Given the description of an element on the screen output the (x, y) to click on. 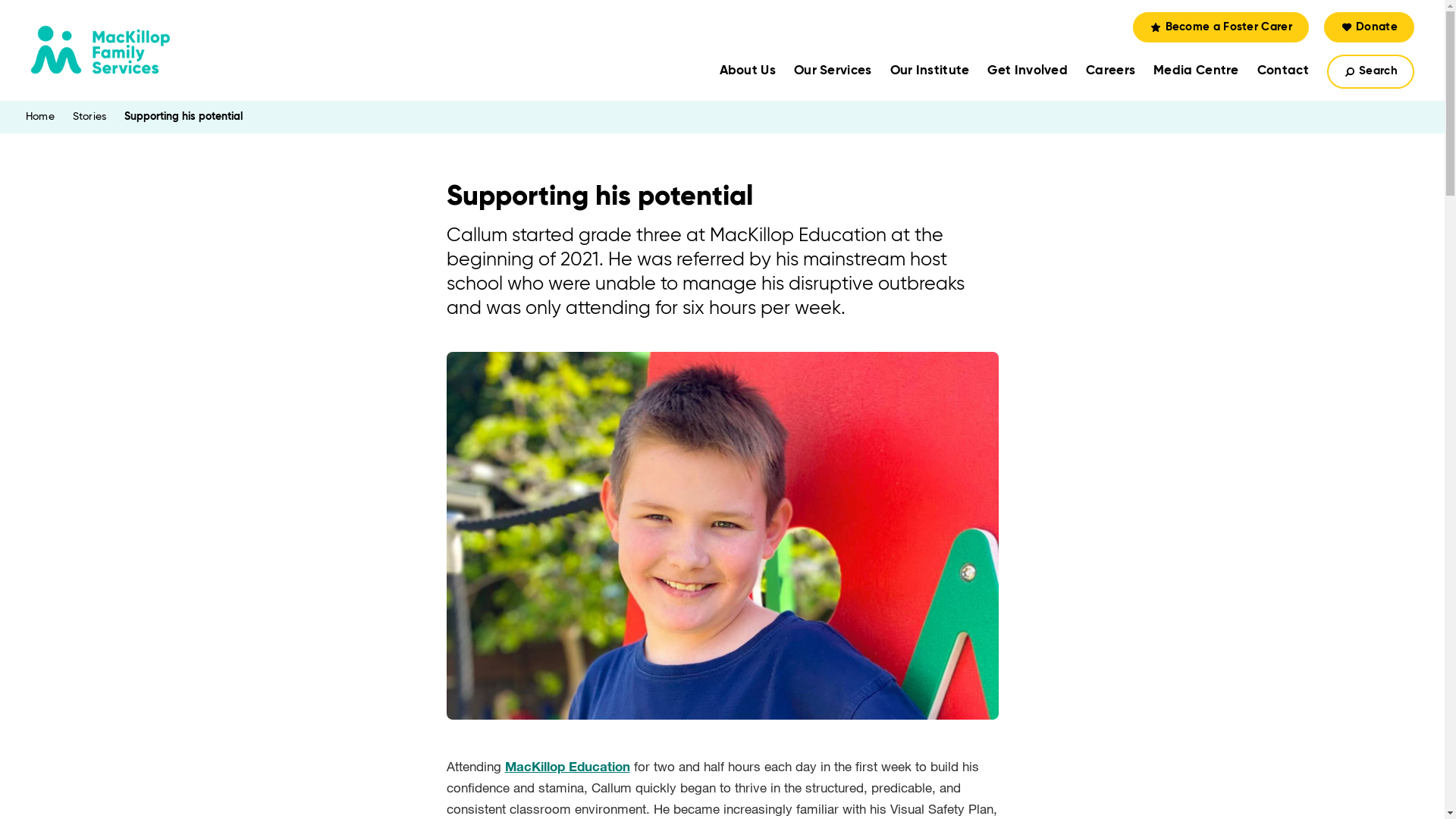
Careers Element type: text (1110, 71)
Get Involved Element type: text (1027, 71)
Search Element type: text (1370, 70)
Contact Element type: text (1282, 71)
MacKillop Education Element type: text (567, 766)
Our Institute Element type: text (930, 71)
About Us Element type: text (747, 71)
Donate Element type: text (1369, 27)
Stories Element type: text (89, 116)
Our Services Element type: text (832, 71)
Become a Foster Carer Element type: text (1220, 27)
Home Element type: text (39, 116)
Skip to main content Element type: text (0, 0)
Media Centre Element type: text (1196, 71)
